Given the description of an element on the screen output the (x, y) to click on. 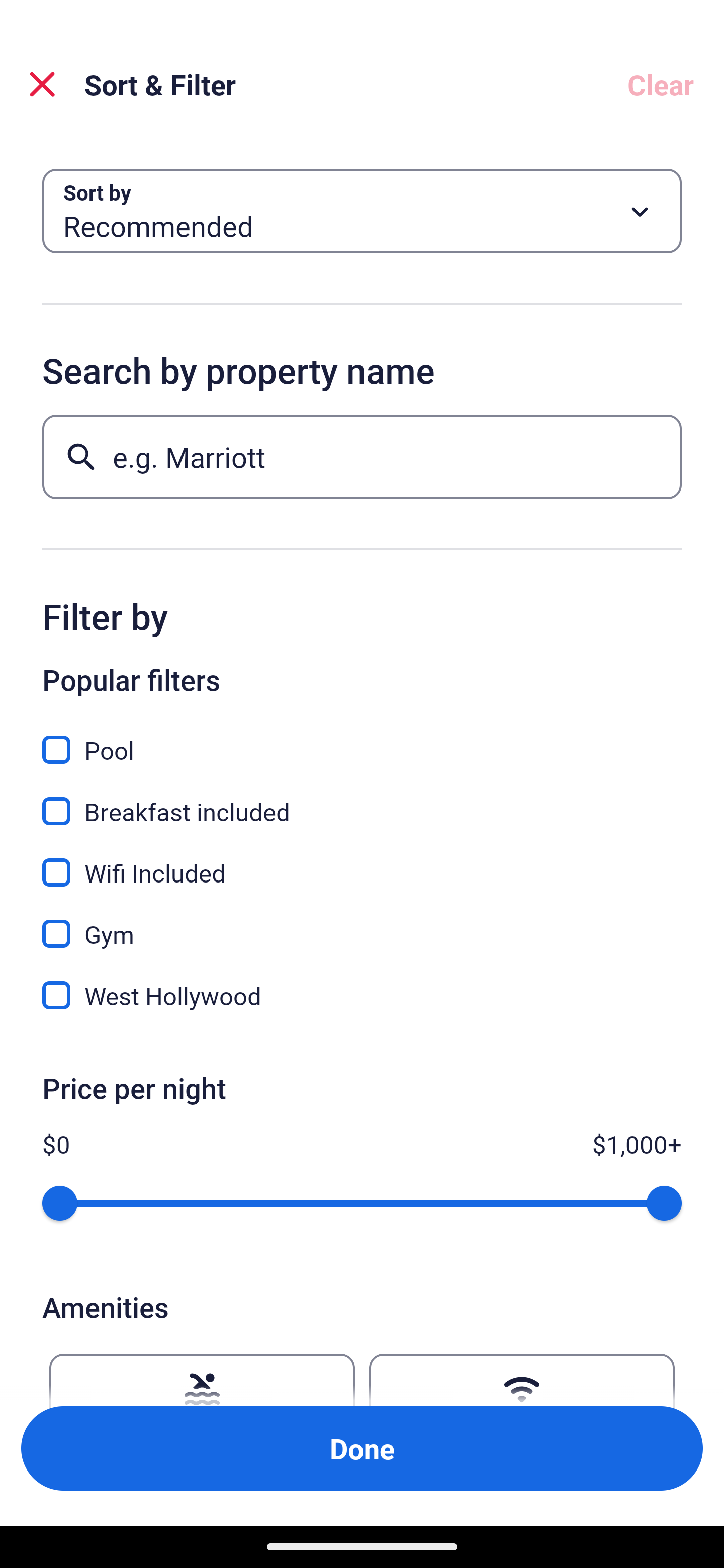
Close Sort and Filter (42, 84)
Clear (660, 84)
Sort by Button Recommended (361, 211)
e.g. Marriott Button (361, 455)
Pool, Pool (361, 738)
Breakfast included, Breakfast included (361, 800)
Wifi Included, Wifi Included (361, 861)
Gym, Gym (361, 922)
West Hollywood, West Hollywood (361, 995)
Apply and close Sort and Filter Done (361, 1448)
